Given the description of an element on the screen output the (x, y) to click on. 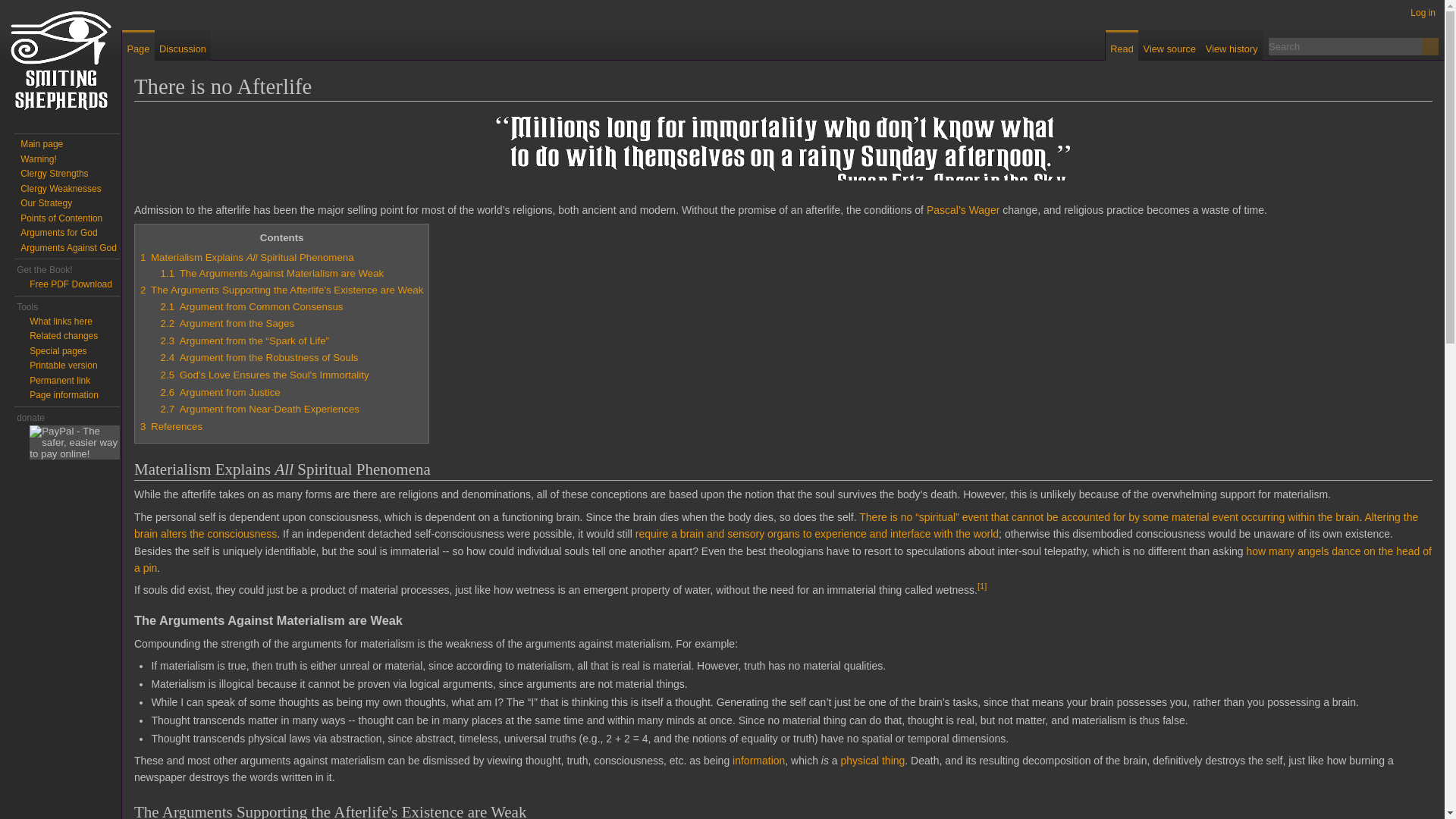
2.6 Argument from Justice (220, 392)
Altering the brain alters the consciousness (775, 525)
3 References (170, 426)
2.2 Argument from the Sages (227, 323)
2.4 Argument from the Robustness of Souls (259, 357)
Go (1430, 45)
1 Materialism Explains All Spiritual Phenomena (246, 256)
Pascal's Wager (962, 209)
physical thing (873, 760)
2.1 Argument from Common Consensus (251, 306)
information (758, 760)
1.1 The Arguments Against Materialism are Weak (272, 273)
Go (1430, 45)
